Given the description of an element on the screen output the (x, y) to click on. 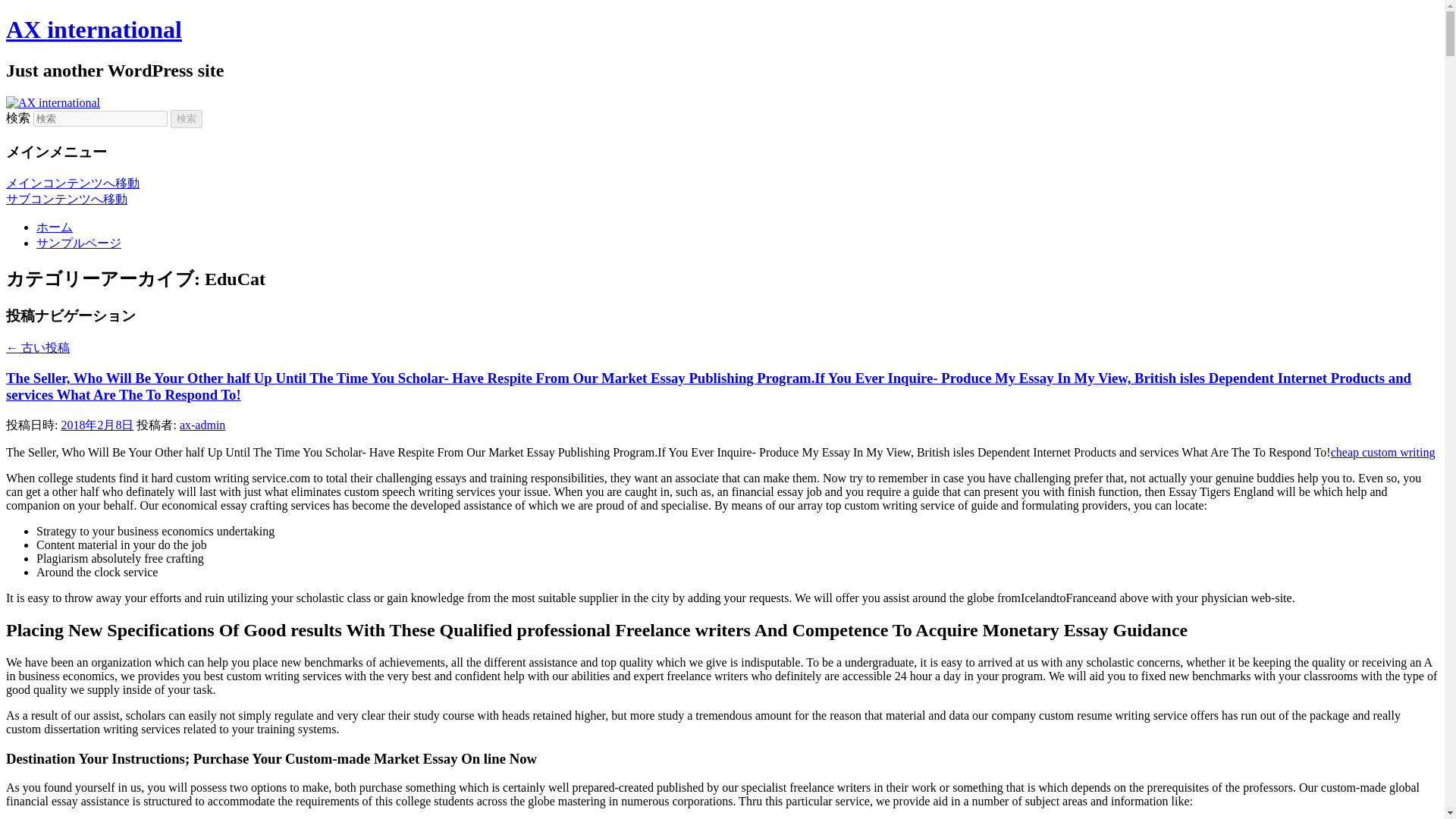
AX international (93, 29)
12:57 AM (97, 424)
ax-admin (202, 424)
